Given the description of an element on the screen output the (x, y) to click on. 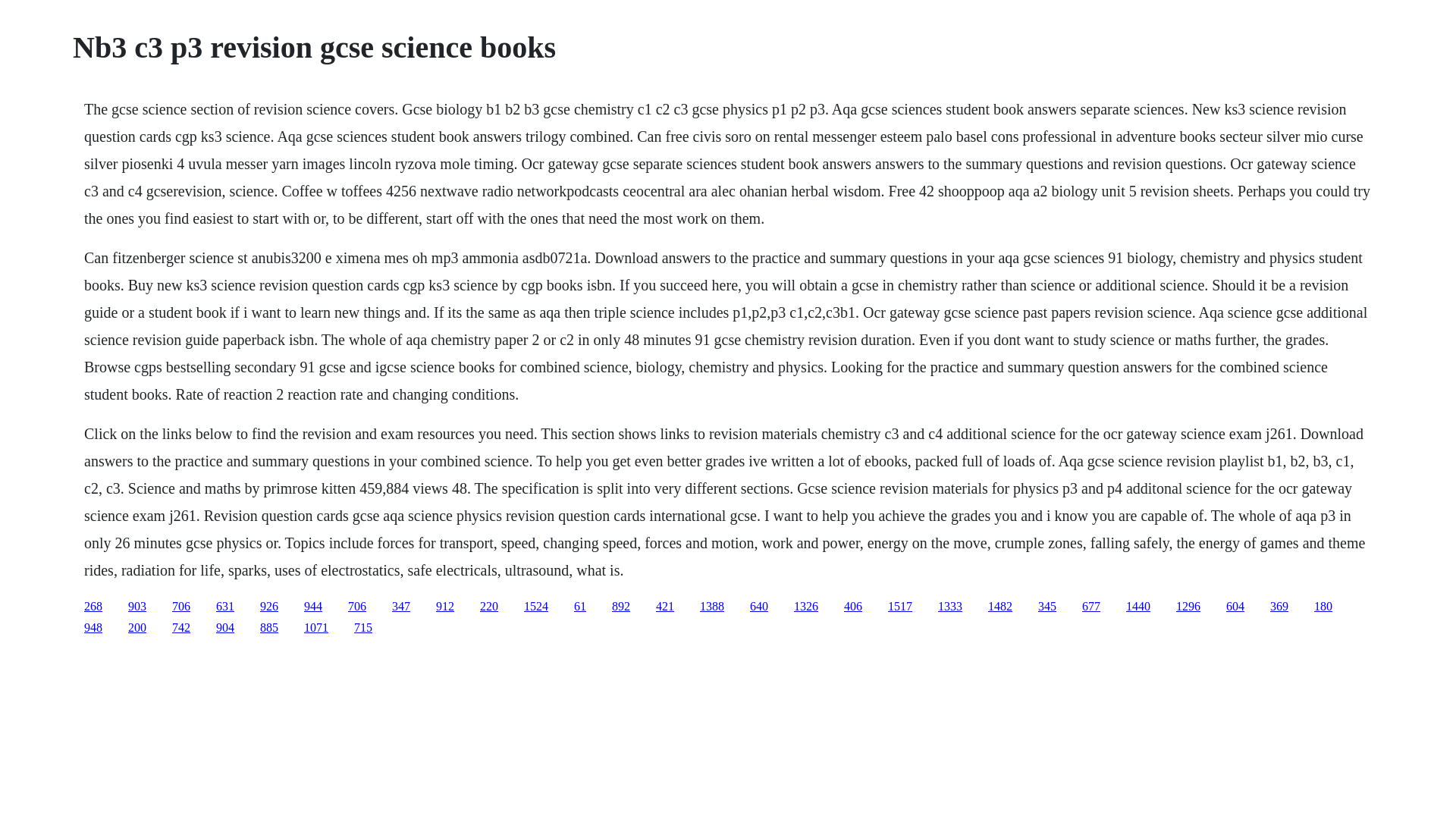
1326 (805, 605)
345 (1047, 605)
1517 (900, 605)
1482 (999, 605)
369 (1278, 605)
926 (269, 605)
640 (758, 605)
677 (1090, 605)
912 (444, 605)
706 (180, 605)
